Given the description of an element on the screen output the (x, y) to click on. 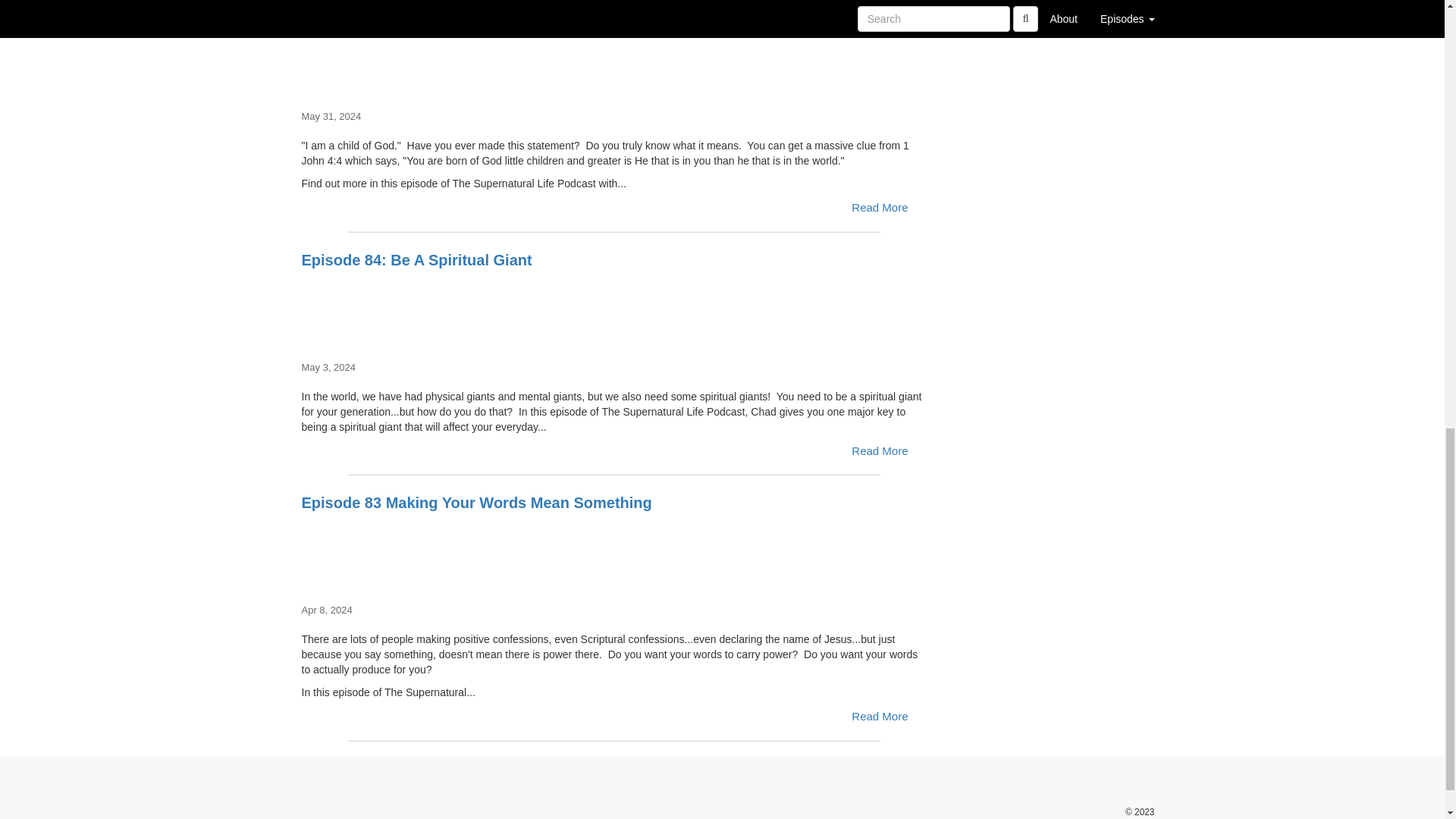
Episode 83 Making Your Words Mean Something (614, 549)
Episode 84: Be A Spiritual Giant (614, 305)
Episode 85 Born Of God (614, 55)
